Given the description of an element on the screen output the (x, y) to click on. 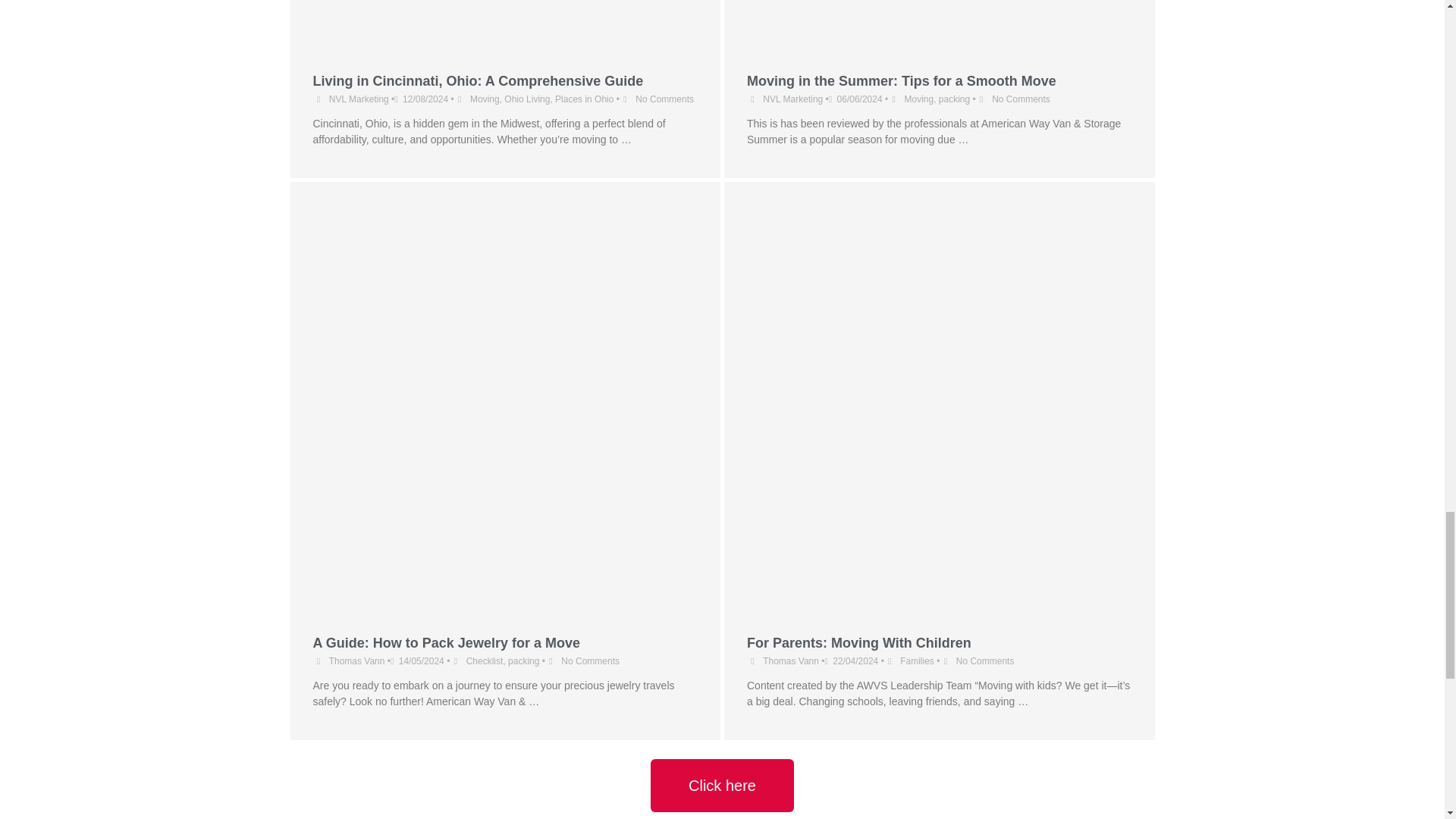
Posts by Thomas Vann (357, 661)
Posts by NVL Marketing (358, 99)
Posts by NVL Marketing (792, 99)
Posts by Thomas Vann (790, 661)
